Given the description of an element on the screen output the (x, y) to click on. 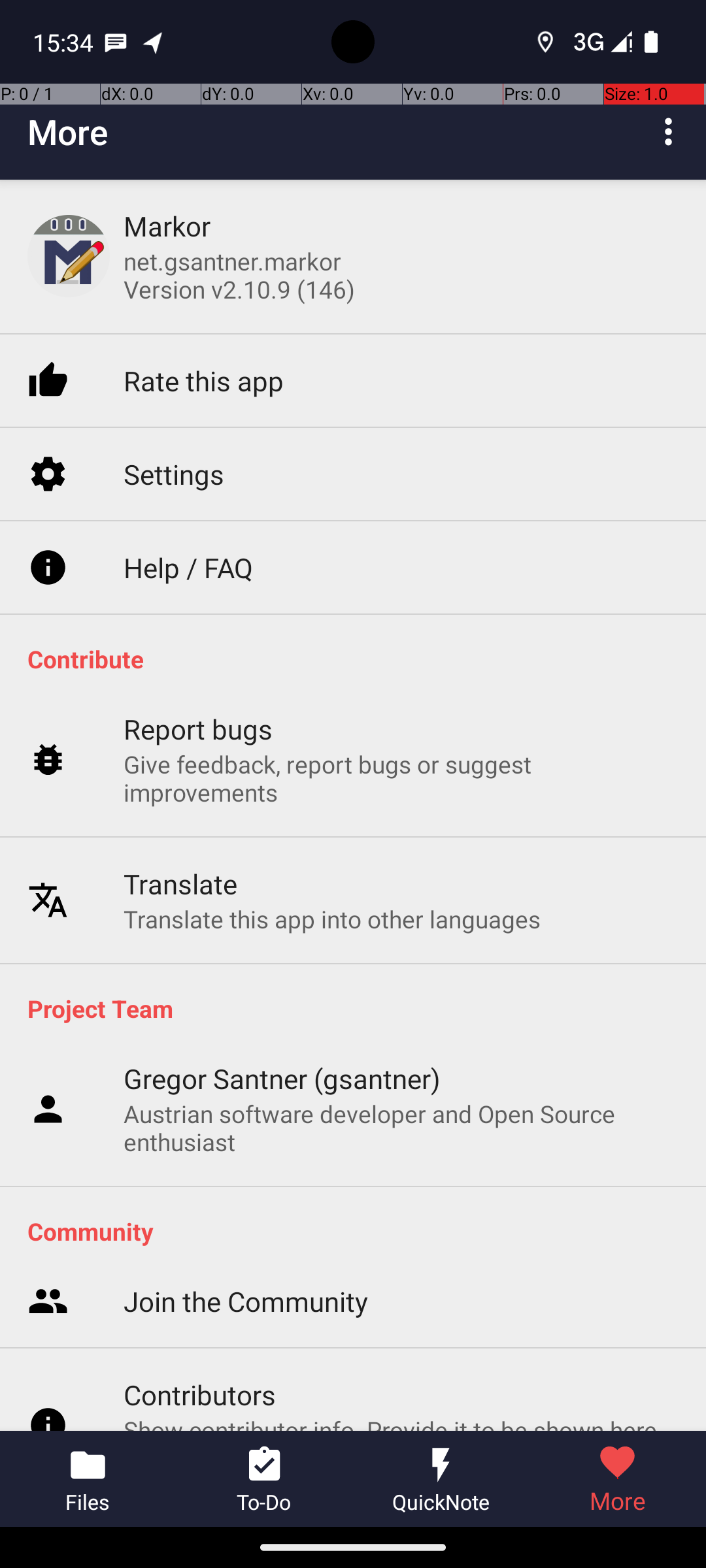
Contribute Element type: android.widget.TextView (359, 658)
Project Team Element type: android.widget.TextView (359, 1008)
Community Element type: android.widget.TextView (359, 1230)
net.gsantner.markor
Version v2.10.9 (146) Element type: android.widget.TextView (239, 274)
Rate this app Element type: android.widget.TextView (203, 333)
Help / FAQ Element type: android.widget.TextView (188, 518)
Report bugs Element type: android.widget.TextView (198, 678)
Give feedback, report bugs or suggest improvements Element type: android.widget.TextView (400, 727)
Translate Element type: android.widget.TextView (180, 832)
Translate this app into other languages Element type: android.widget.TextView (331, 867)
Gregor Santner (gsantner) Element type: android.widget.TextView (281, 1077)
Austrian software developer and Open Source enthusiast Element type: android.widget.TextView (400, 1127)
Join the Community Element type: android.widget.TextView (245, 1132)
Contributors Element type: android.widget.TextView (199, 1224)
Show contributor info. Provide it to be shown here on an opt-in basis after contributing Element type: android.widget.TextView (400, 1274)
